Given the description of an element on the screen output the (x, y) to click on. 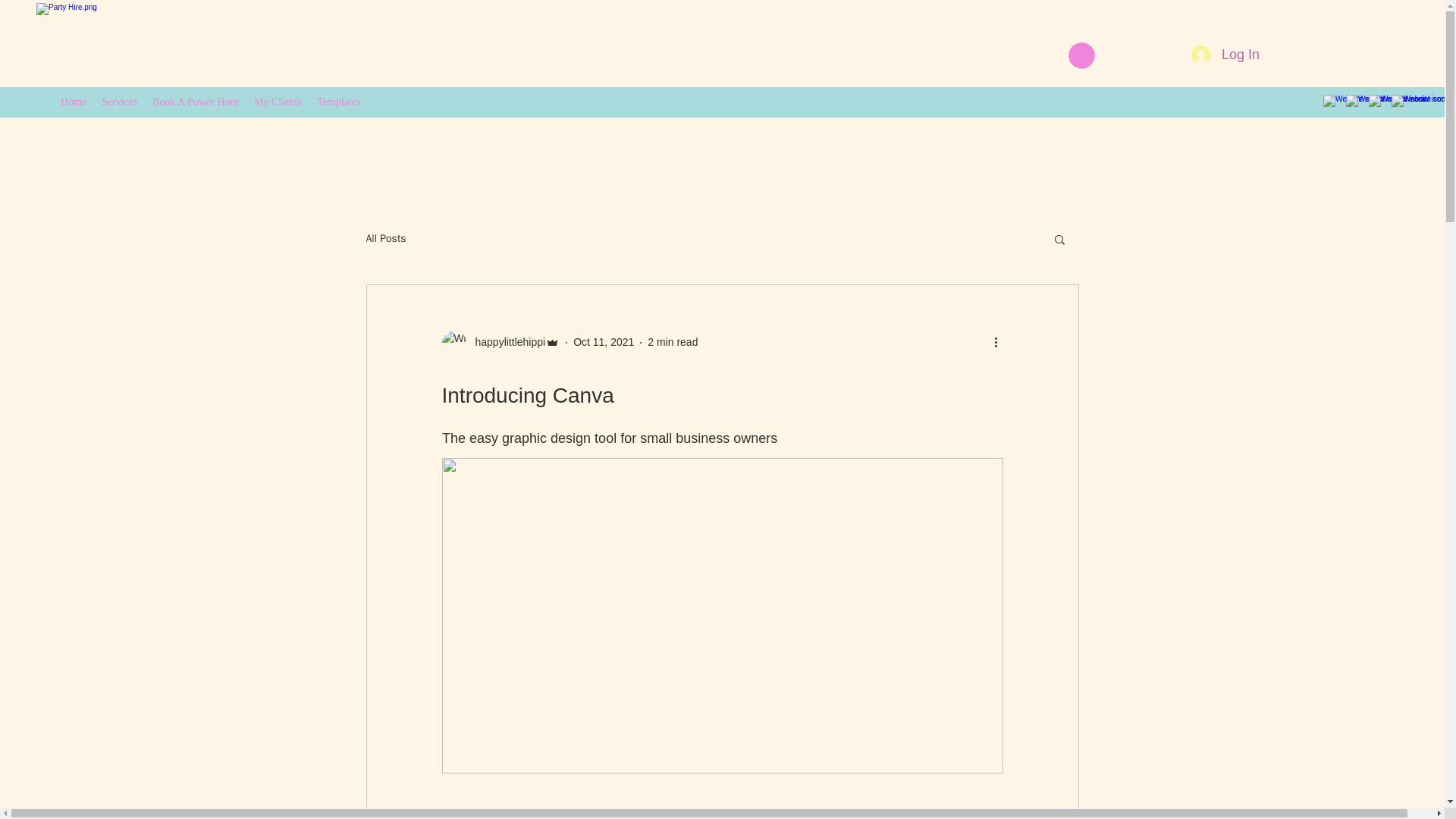
Home (73, 101)
Oct 11, 2021 (603, 341)
happylittlehippi (500, 342)
Templates (338, 101)
My Clients (277, 101)
Book A Power Hour (195, 101)
2 min read (672, 341)
happylittlehippi (504, 342)
All Posts (385, 238)
Log In (1224, 55)
